Given the description of an element on the screen output the (x, y) to click on. 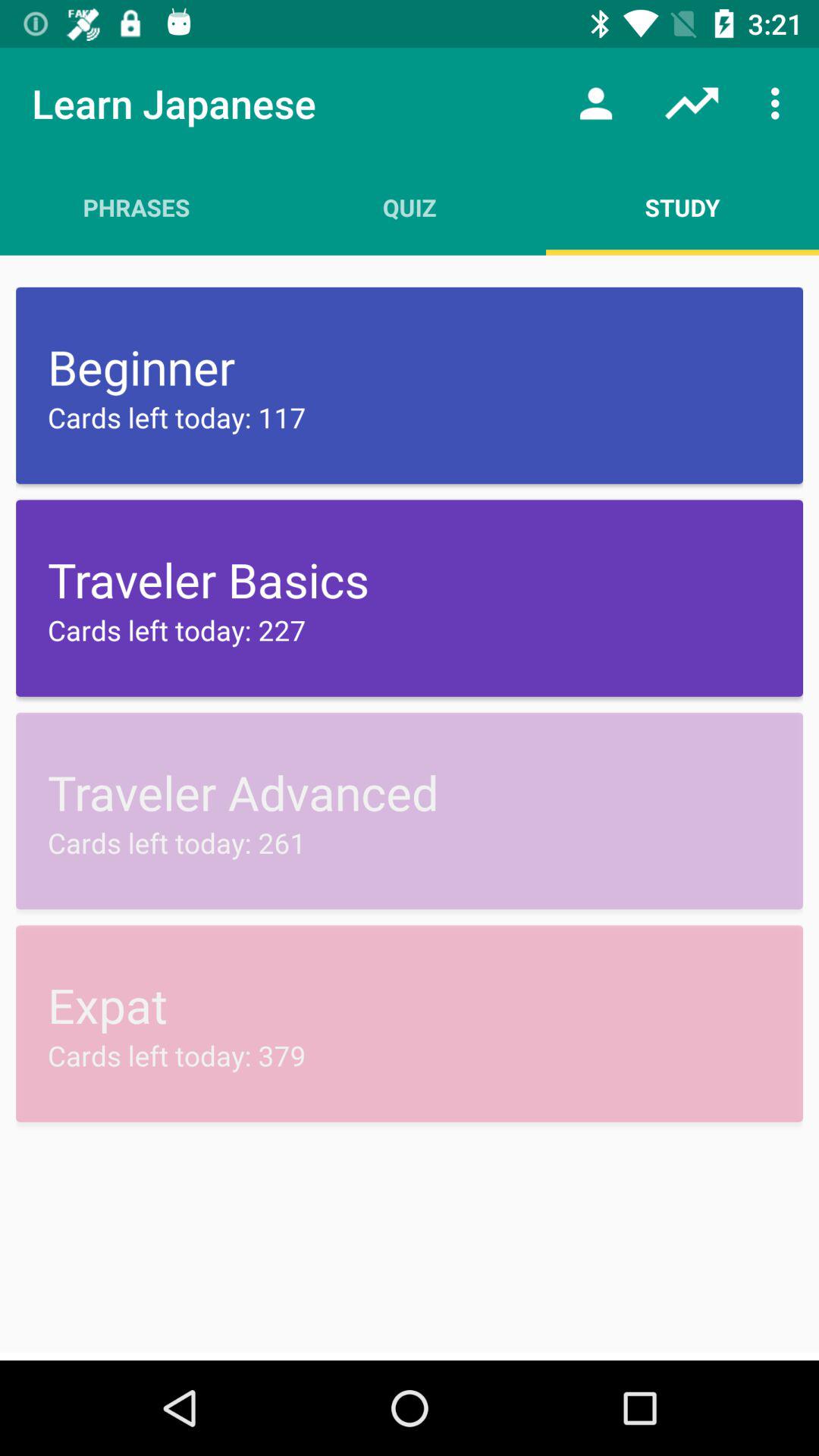
turn off app next to quiz (595, 103)
